Given the description of an element on the screen output the (x, y) to click on. 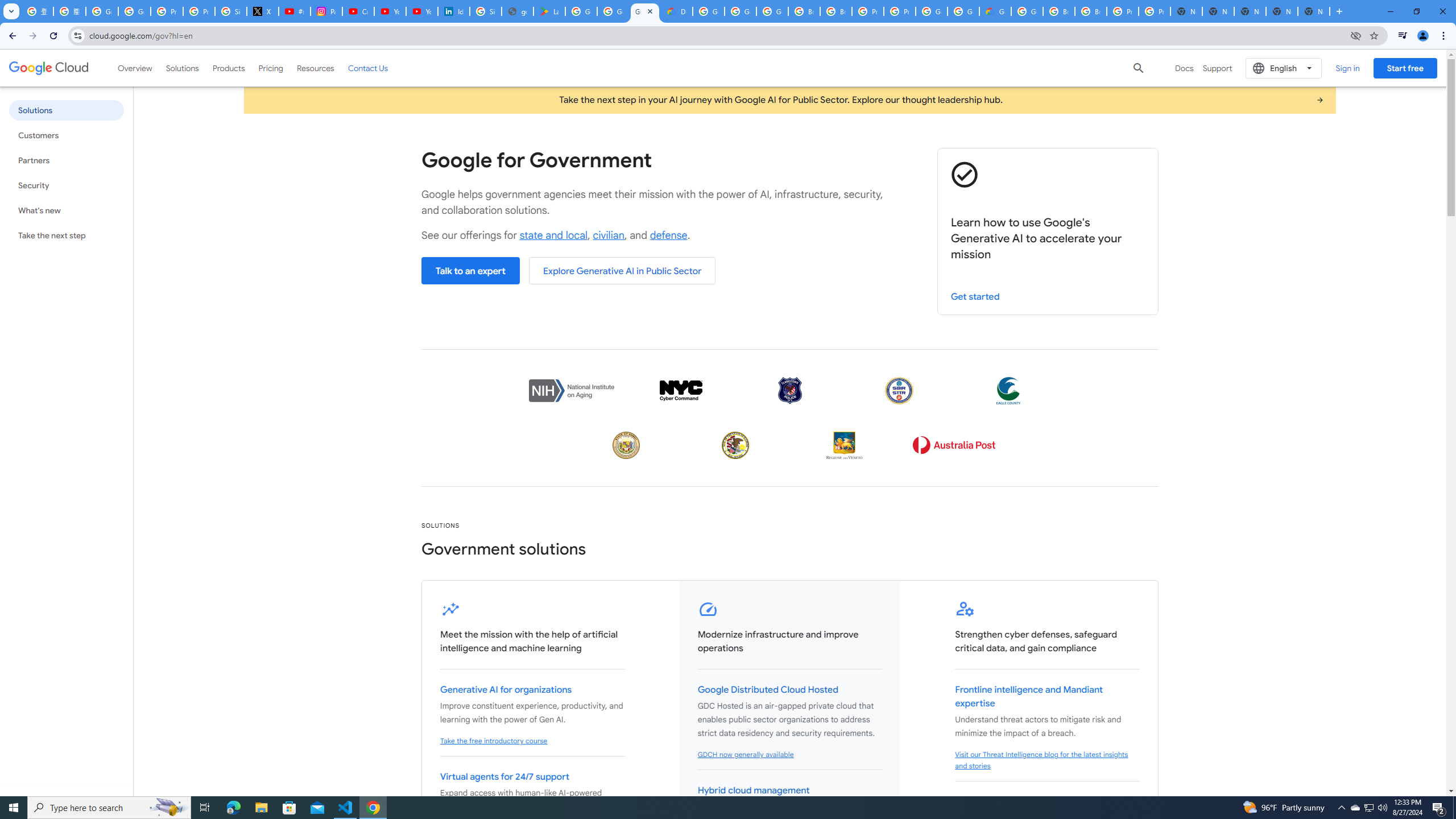
What's new (65, 209)
Google Cloud Estimate Summary (995, 11)
Google Cloud Platform (1027, 11)
civilian (608, 235)
GDCH now generally available (745, 754)
Customers (65, 135)
state and local (553, 235)
Government | Google Cloud (644, 11)
Google Cloud Platform (963, 11)
